Given the description of an element on the screen output the (x, y) to click on. 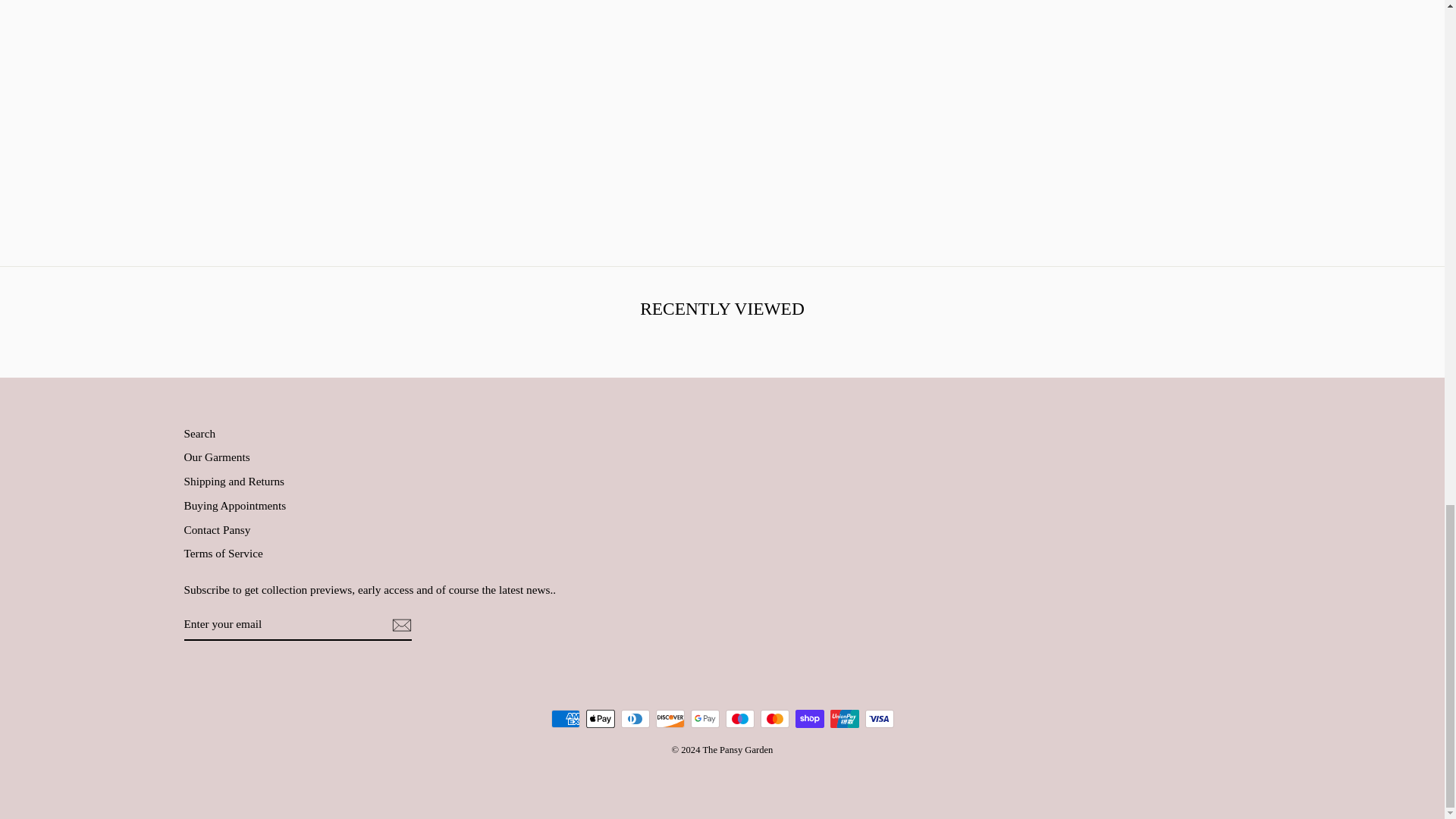
Union Pay (844, 719)
Google Pay (704, 719)
American Express (564, 719)
Discover (669, 719)
Shop Pay (809, 719)
Apple Pay (599, 719)
Diners Club (634, 719)
Visa (878, 719)
icon-email (400, 624)
Maestro (739, 719)
